Given the description of an element on the screen output the (x, y) to click on. 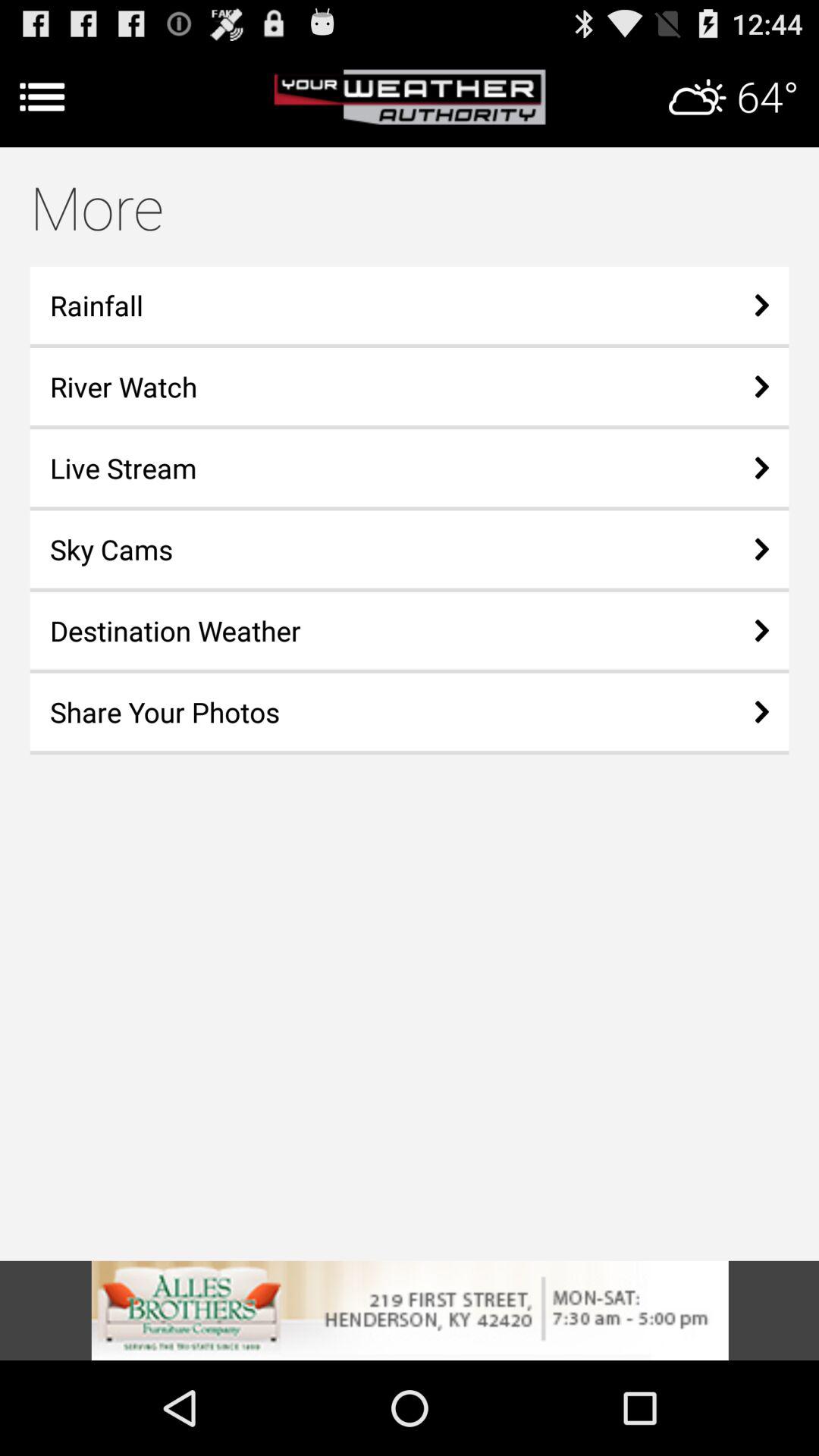
tap the icon above the more app (409, 97)
